Given the description of an element on the screen output the (x, y) to click on. 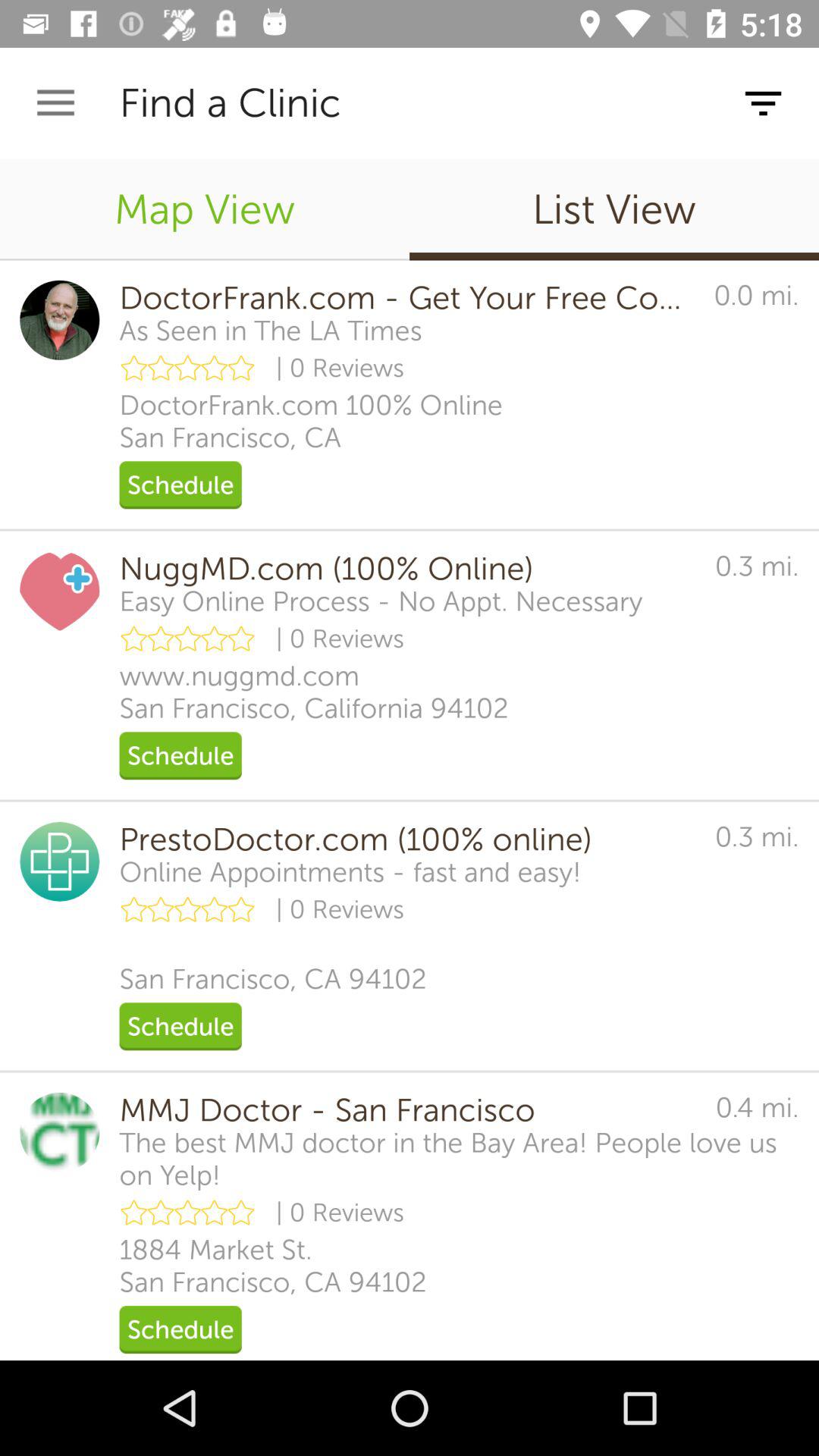
tap the icon next to the 0.0 mi. icon (270, 330)
